Given the description of an element on the screen output the (x, y) to click on. 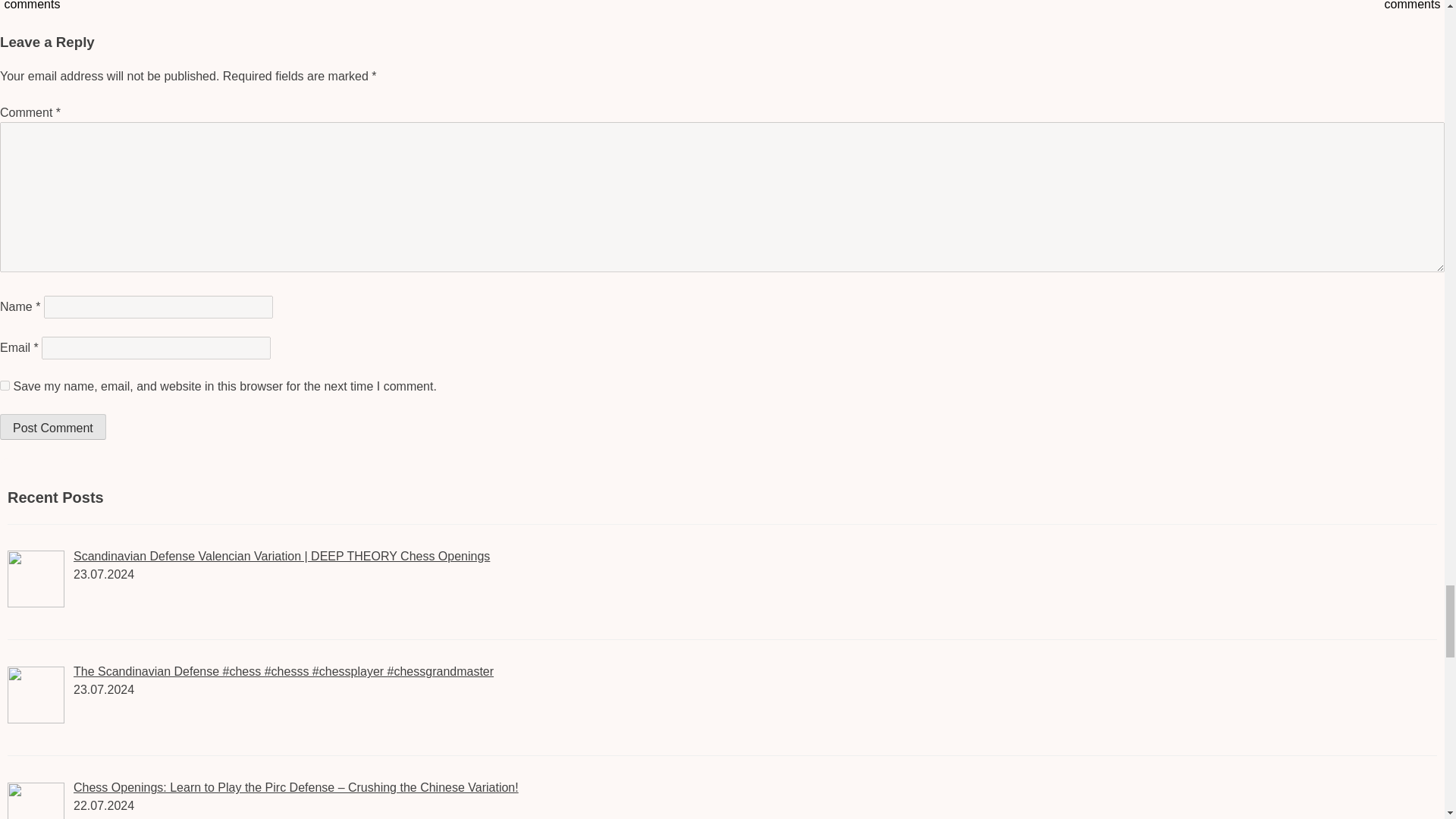
yes (5, 385)
Post Comment (53, 426)
